Given the description of an element on the screen output the (x, y) to click on. 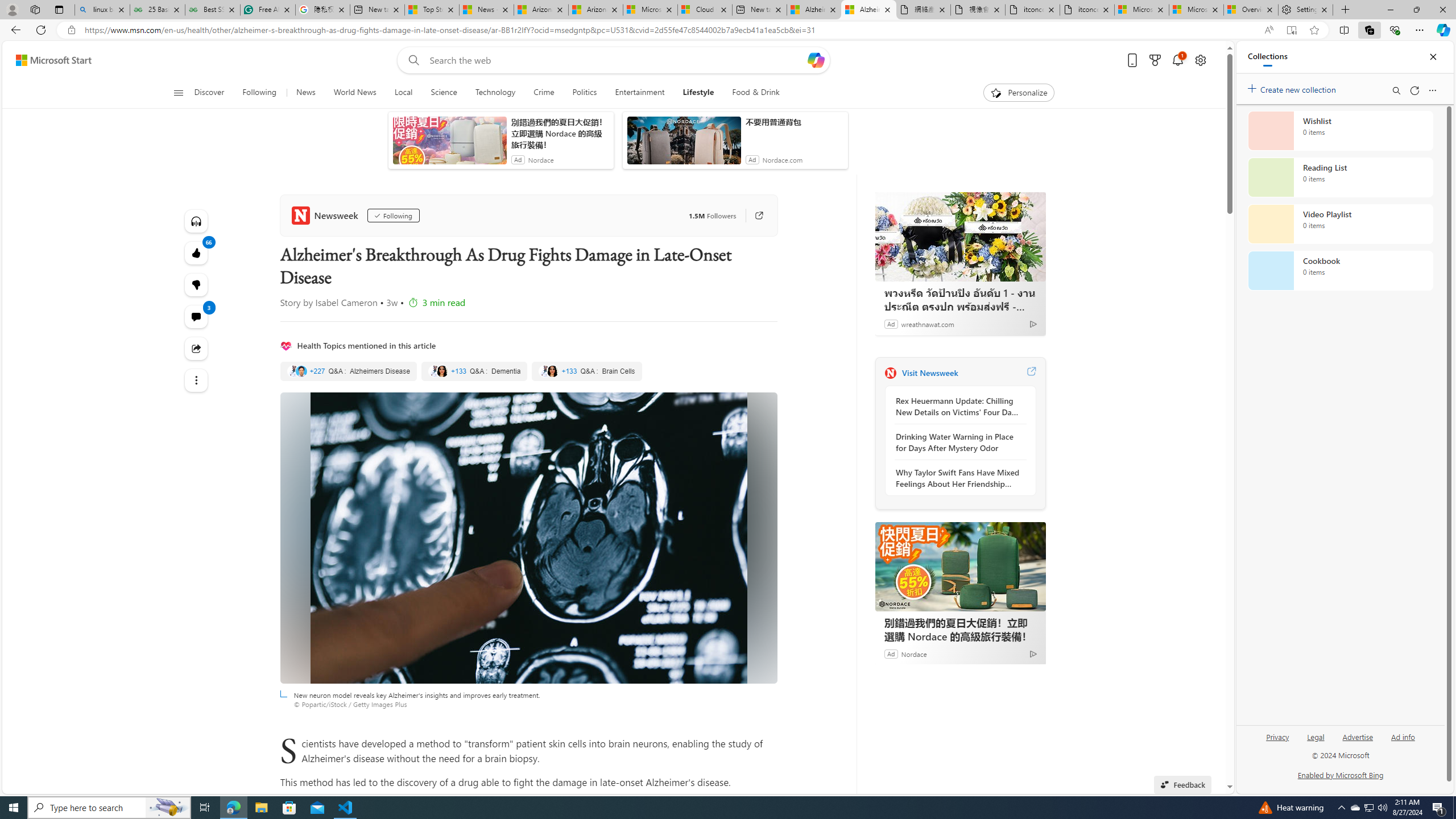
itconcepthk.com/projector_solutions.mp4 (1087, 9)
Newsweek (889, 372)
Video Playlist collection, 0 items (1339, 223)
Free AI Writing Assistance for Students | Grammarly (267, 9)
66 (196, 284)
